Given the description of an element on the screen output the (x, y) to click on. 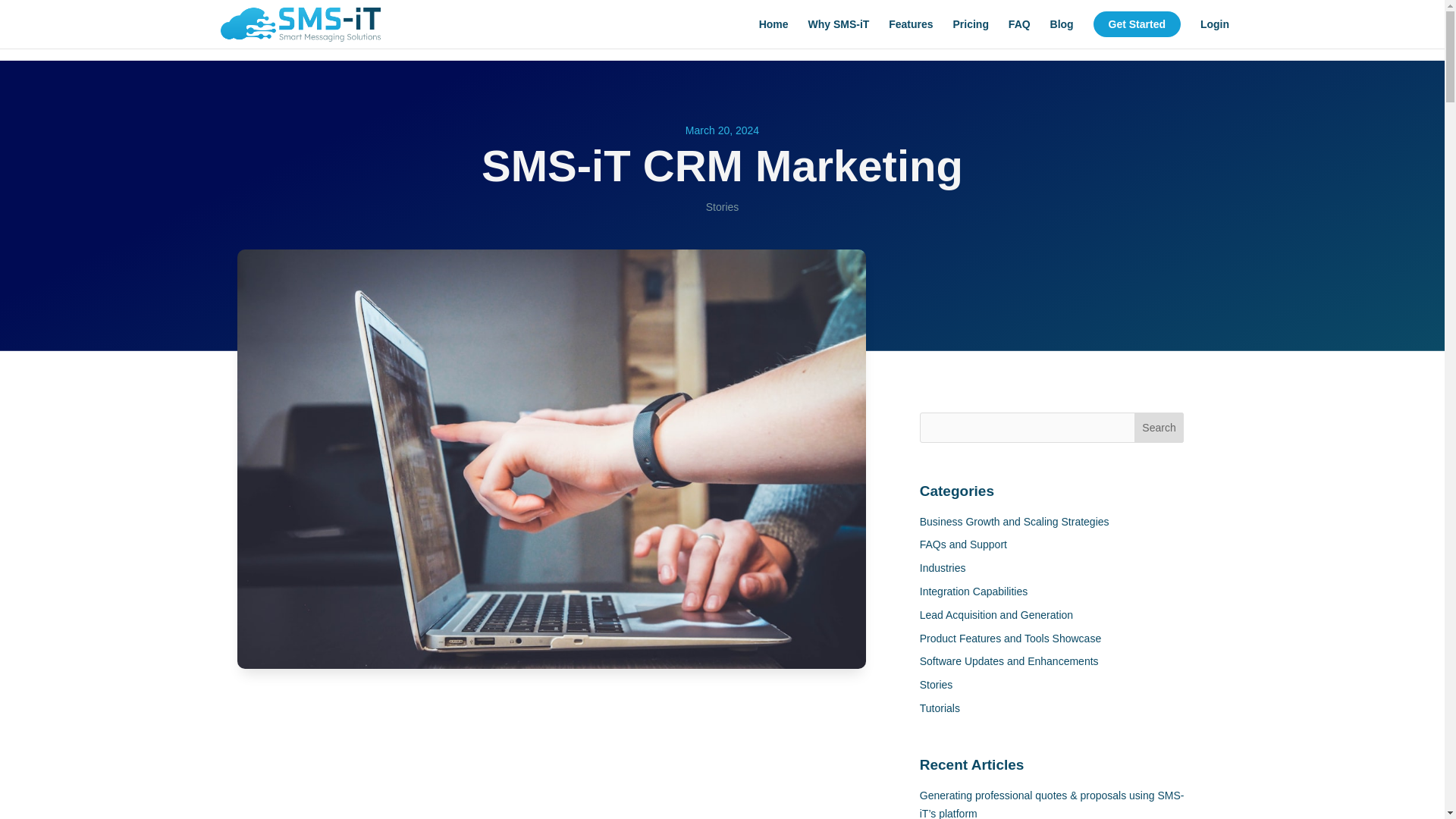
SMS-iT CRM Marketing (550, 757)
Stories (722, 206)
Home (773, 29)
Product Features and Tools Showcase (1010, 638)
Why SMS-iT (838, 29)
Stories (936, 684)
Search (1159, 427)
Login (1213, 29)
Integration Capabilities (973, 591)
Blog (1061, 29)
